Given the description of an element on the screen output the (x, y) to click on. 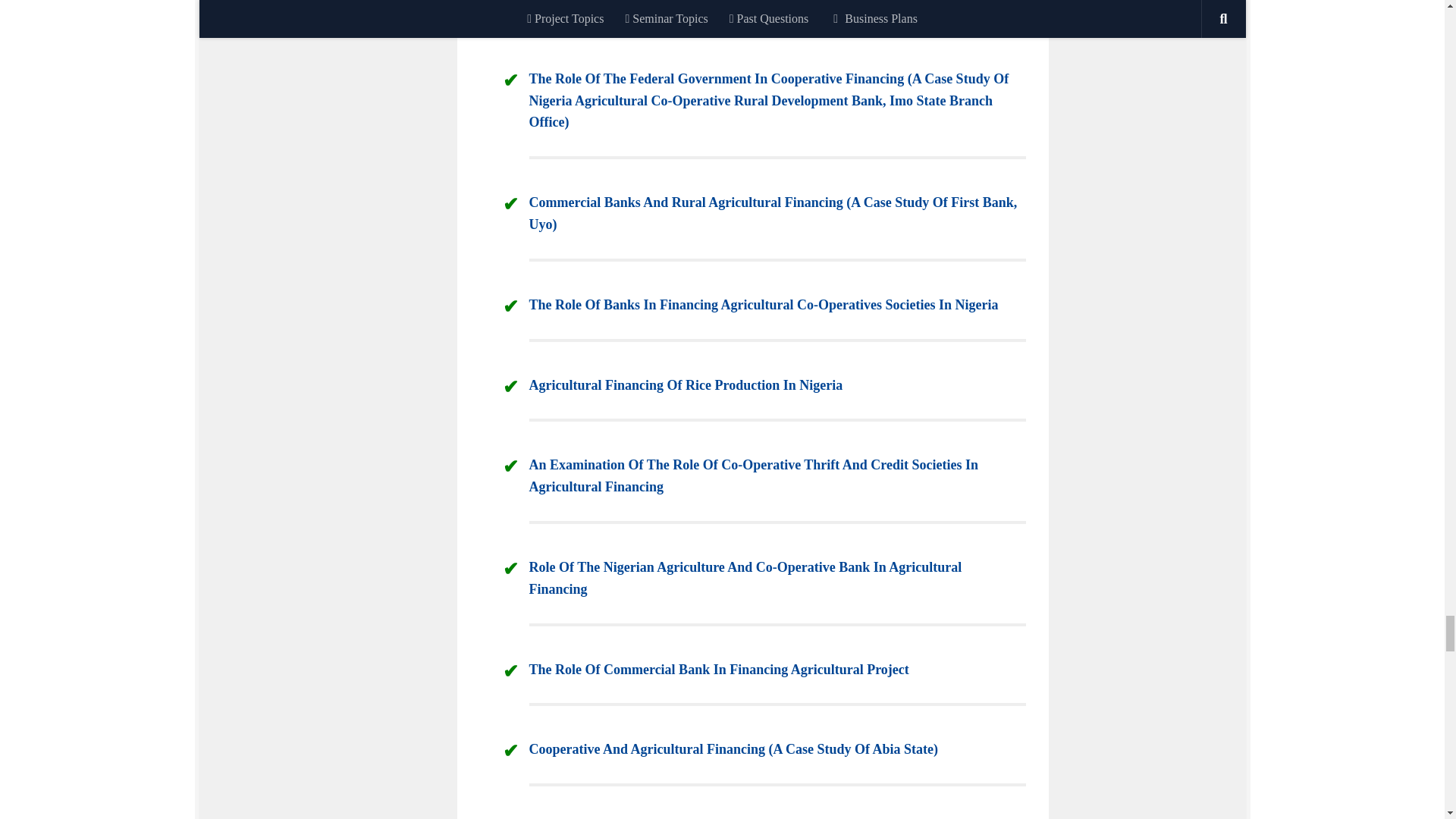
Agricultural Financing Of Rice Production In Nigeria (686, 385)
